Given the description of an element on the screen output the (x, y) to click on. 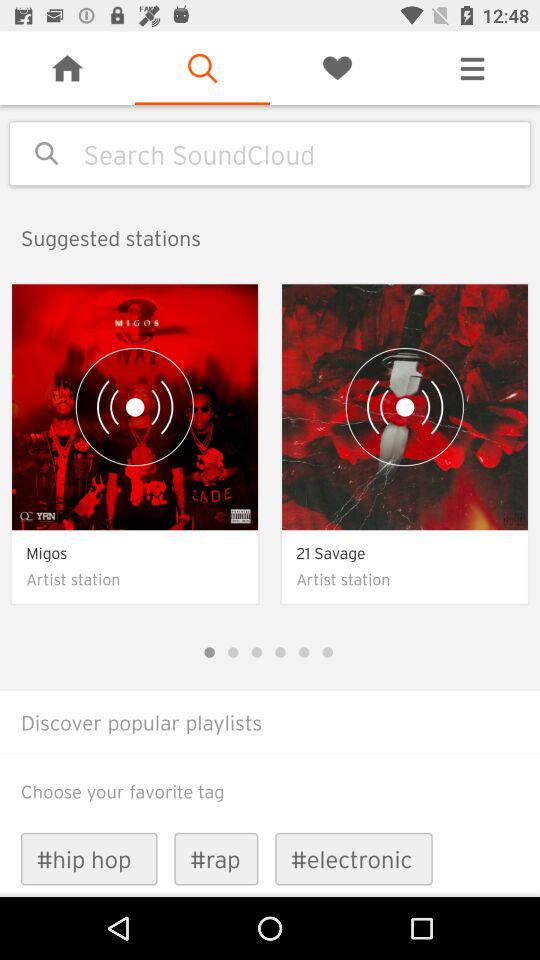
press item next to the #rap item (88, 858)
